Given the description of an element on the screen output the (x, y) to click on. 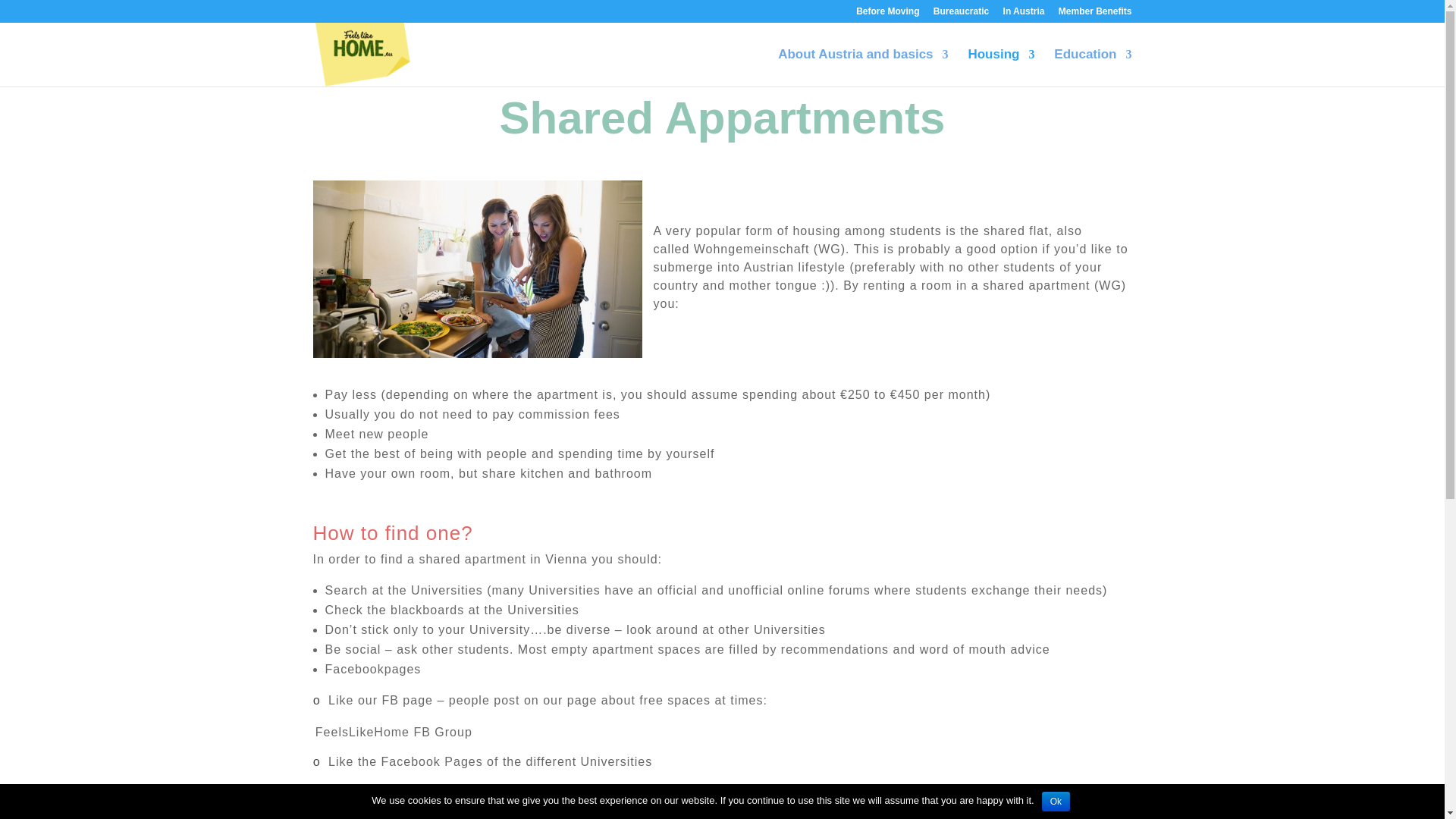
Member Benefits (1095, 14)
About Austria and basics (862, 67)
In Austria (1024, 14)
Bureaucratic (960, 14)
Housing (1000, 67)
Education (1092, 67)
Before Moving (887, 14)
